Given the description of an element on the screen output the (x, y) to click on. 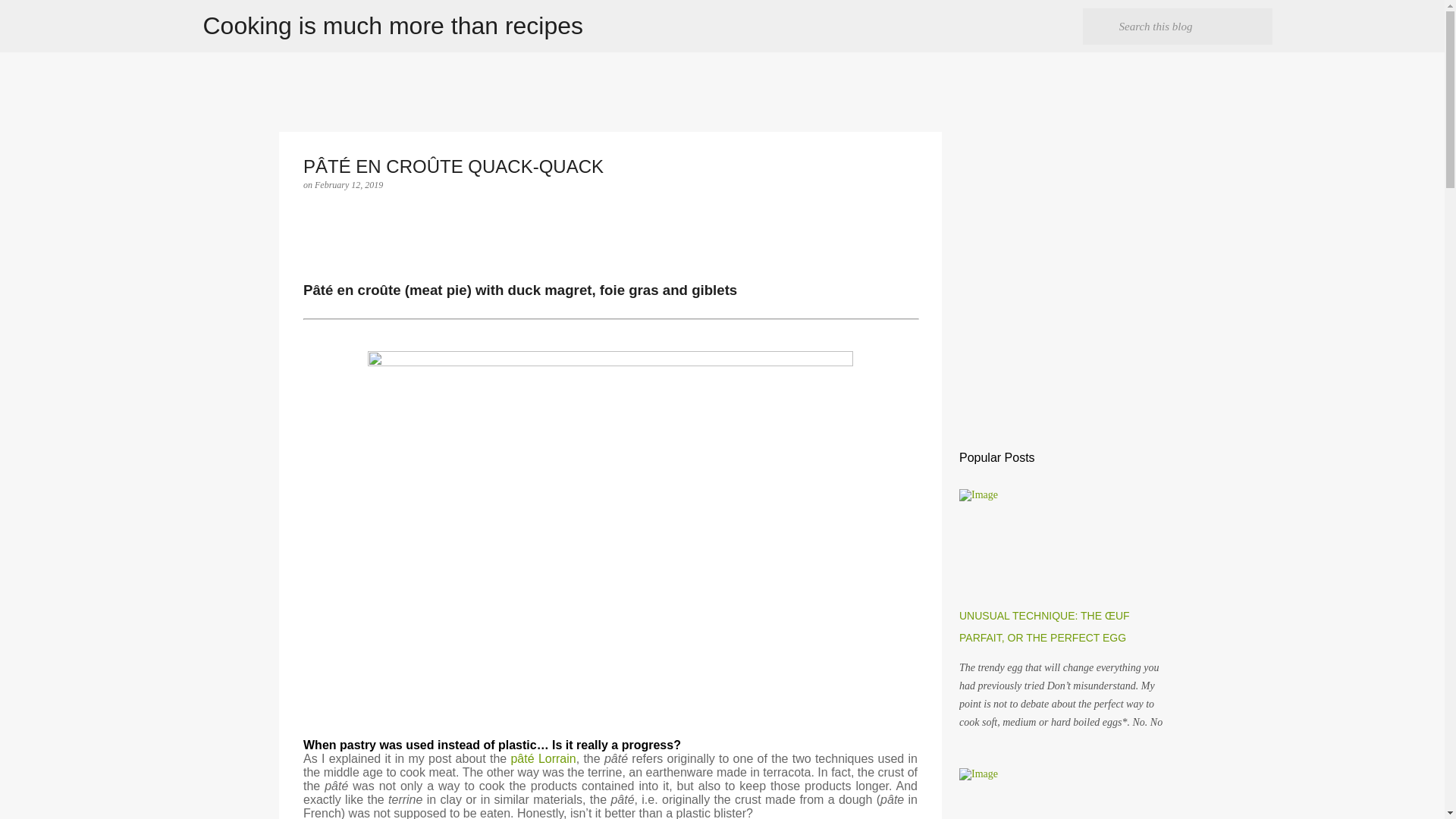
February 12, 2019 (348, 184)
Cooking is much more than recipes (393, 25)
permanent link (348, 184)
